Given the description of an element on the screen output the (x, y) to click on. 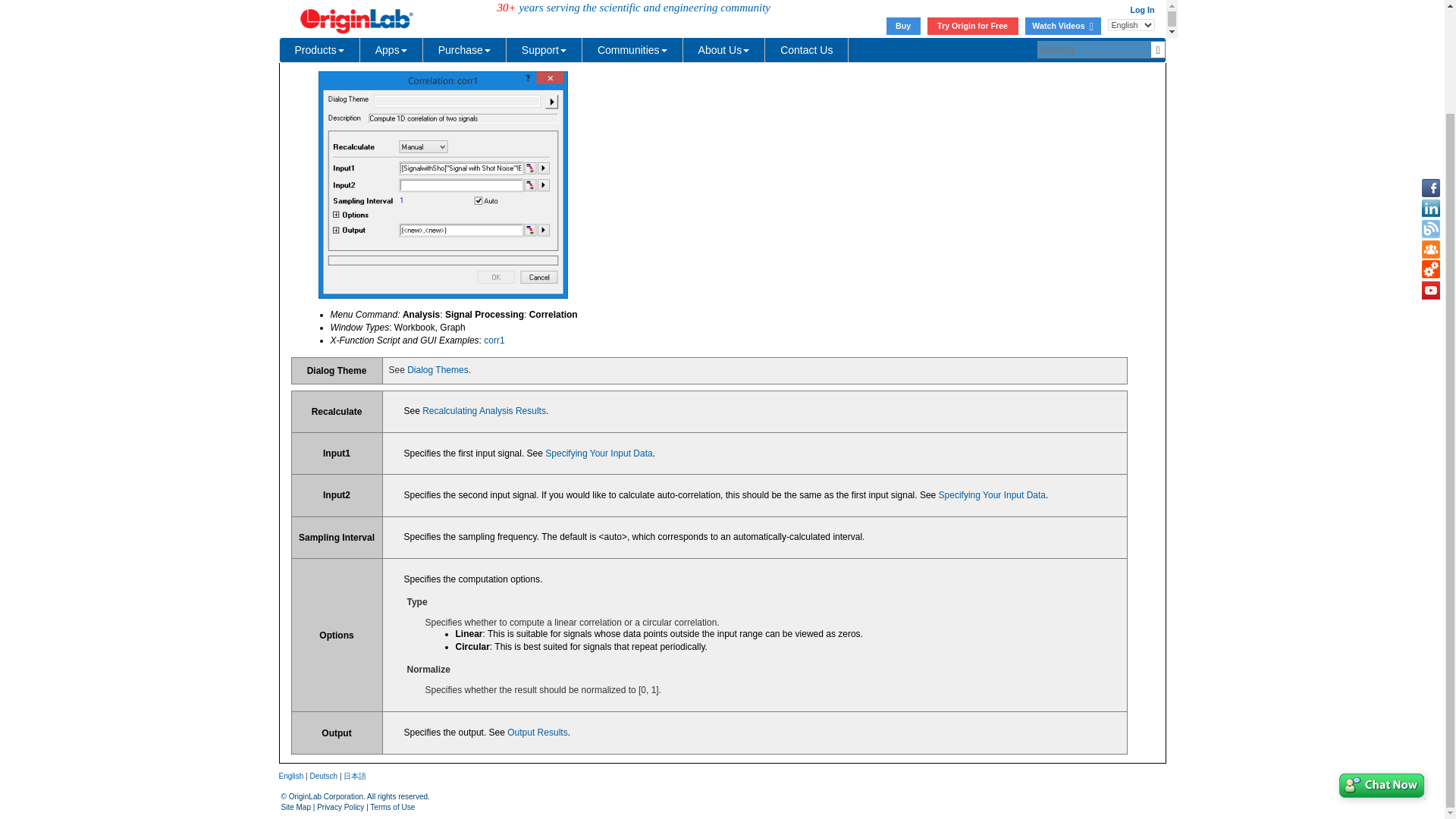
Search (1138, 9)
Facebook (1431, 66)
File Exchange (1431, 148)
Forum (1431, 127)
Youtube (1431, 168)
LinkedIn (1431, 86)
Blog (1431, 107)
